Given the description of an element on the screen output the (x, y) to click on. 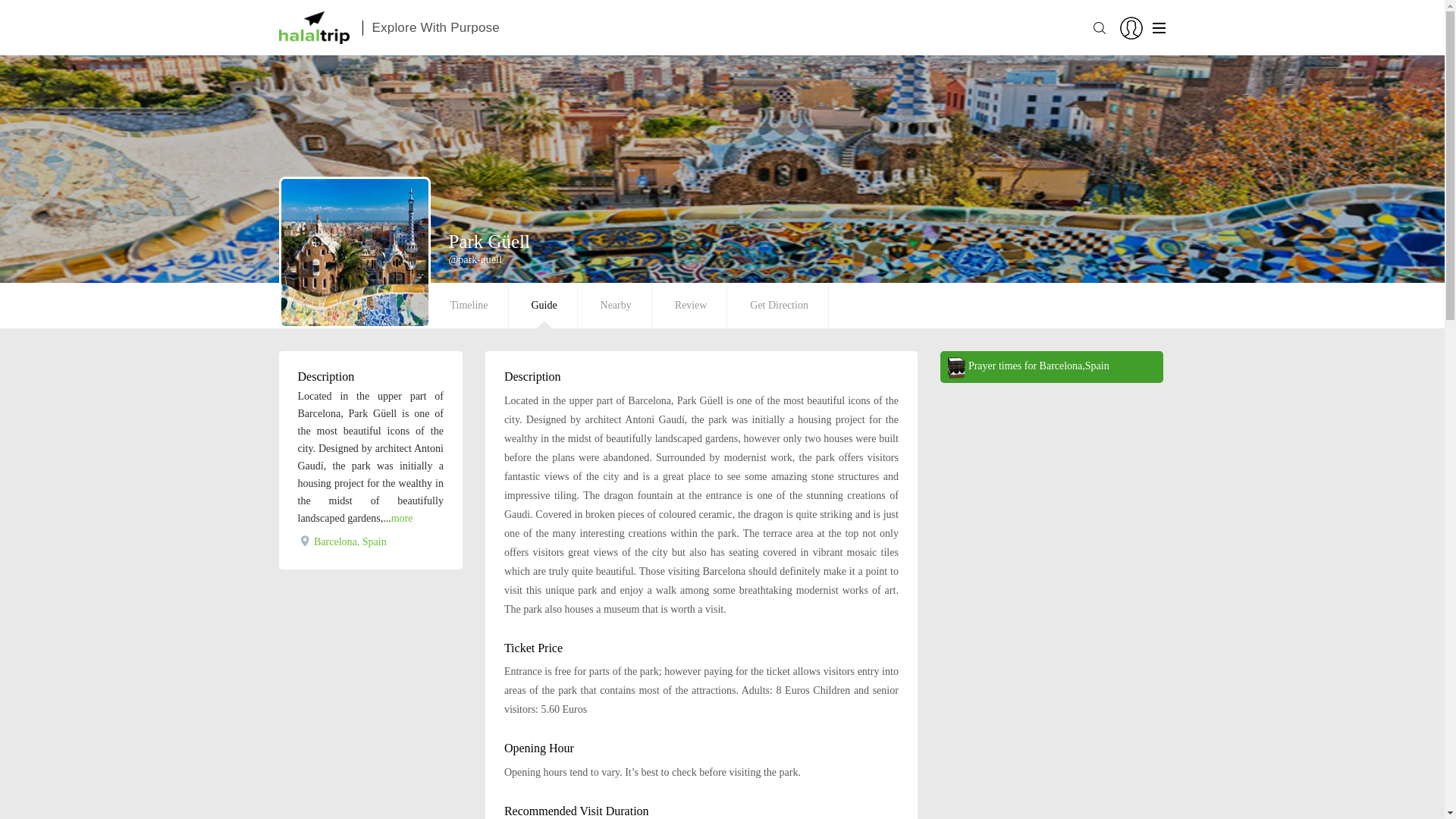
Timeline (469, 305)
